Given the description of an element on the screen output the (x, y) to click on. 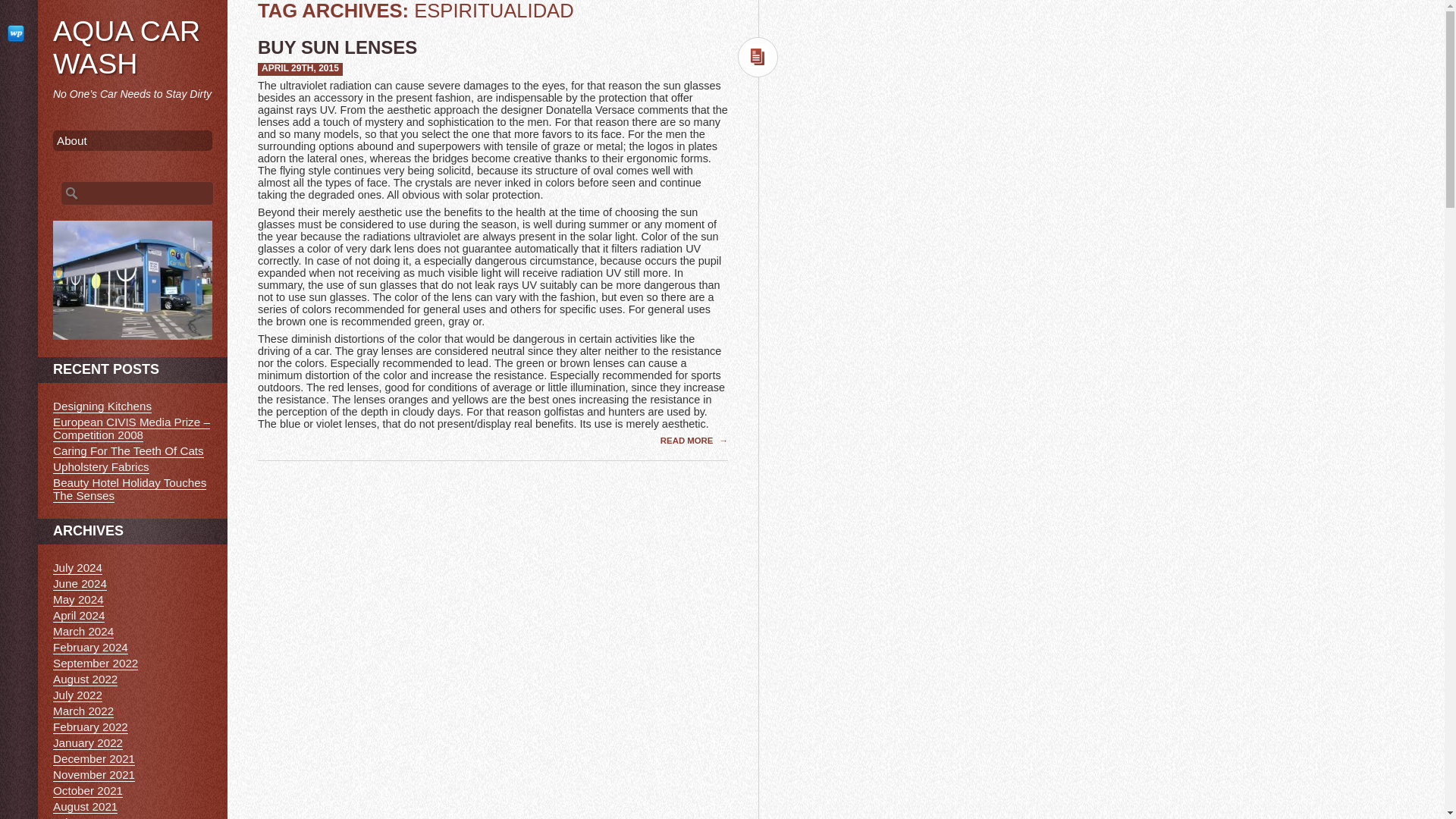
September 2022 (95, 663)
Permalink to Buy Sun Lenses (300, 68)
BUY SUN LENSES (336, 46)
Search (21, 7)
AQUA CAR WASH (126, 47)
November 2021 (93, 775)
March 2022 (82, 711)
October 2021 (87, 790)
March 2024 (82, 631)
Design by StylishWP (18, 32)
Caring For The Teeth Of Cats (127, 450)
August 2021 (84, 807)
About (132, 140)
January 2022 (87, 743)
READ MORE (688, 440)
